Given the description of an element on the screen output the (x, y) to click on. 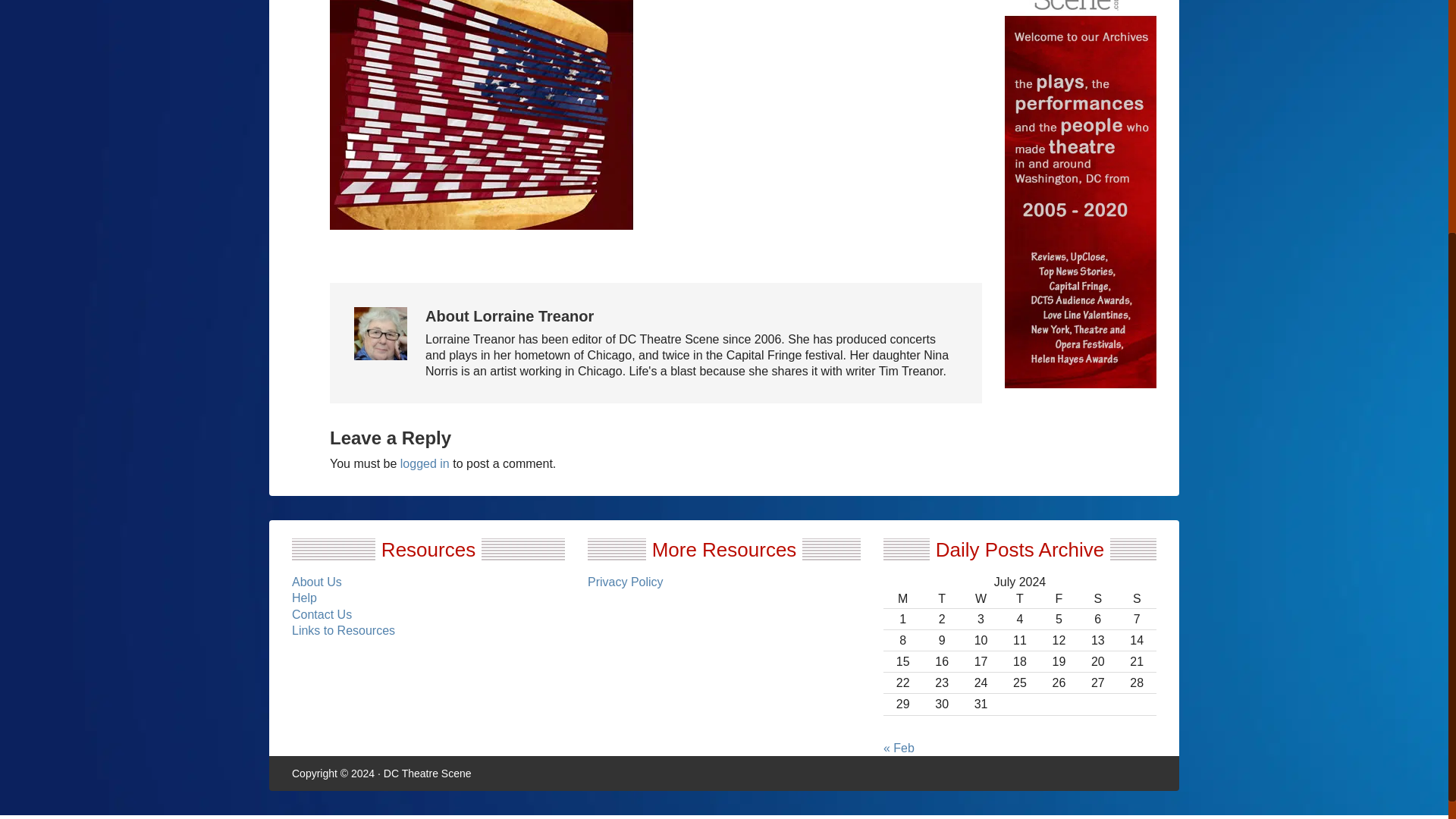
Privacy Policy (625, 581)
Thursday (1019, 598)
logged in (424, 463)
Friday (1058, 598)
Saturday (1097, 598)
Contact Us (322, 614)
About Us (317, 581)
Links to Resources (343, 630)
Sunday (1137, 598)
Monday (902, 598)
Help (304, 597)
Wednesday (980, 598)
Tuesday (940, 598)
